Given the description of an element on the screen output the (x, y) to click on. 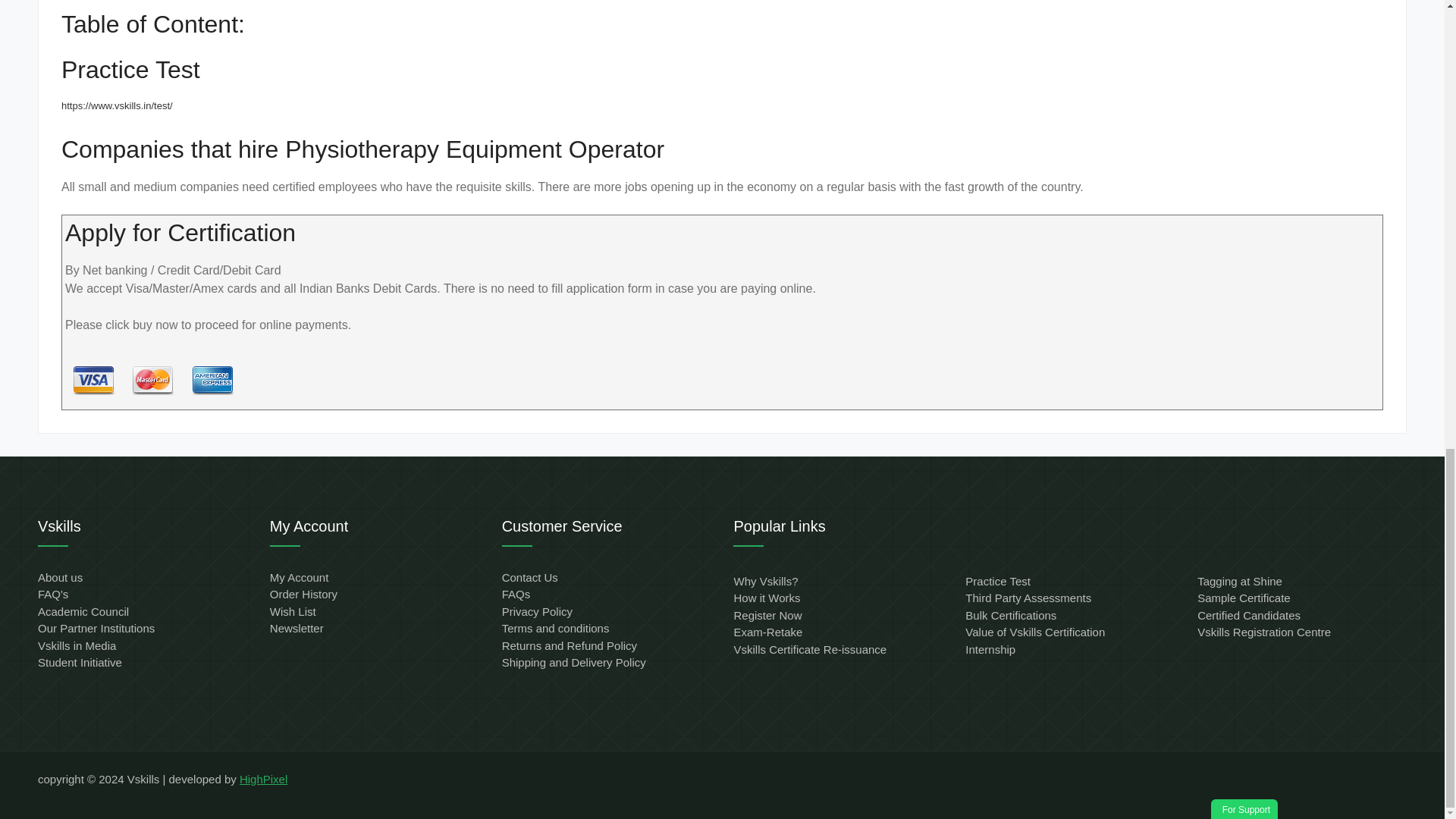
Master Card (152, 380)
American Express (211, 380)
Bulk Certifications for institutes and companies (1011, 615)
Visa Card (92, 380)
